Given the description of an element on the screen output the (x, y) to click on. 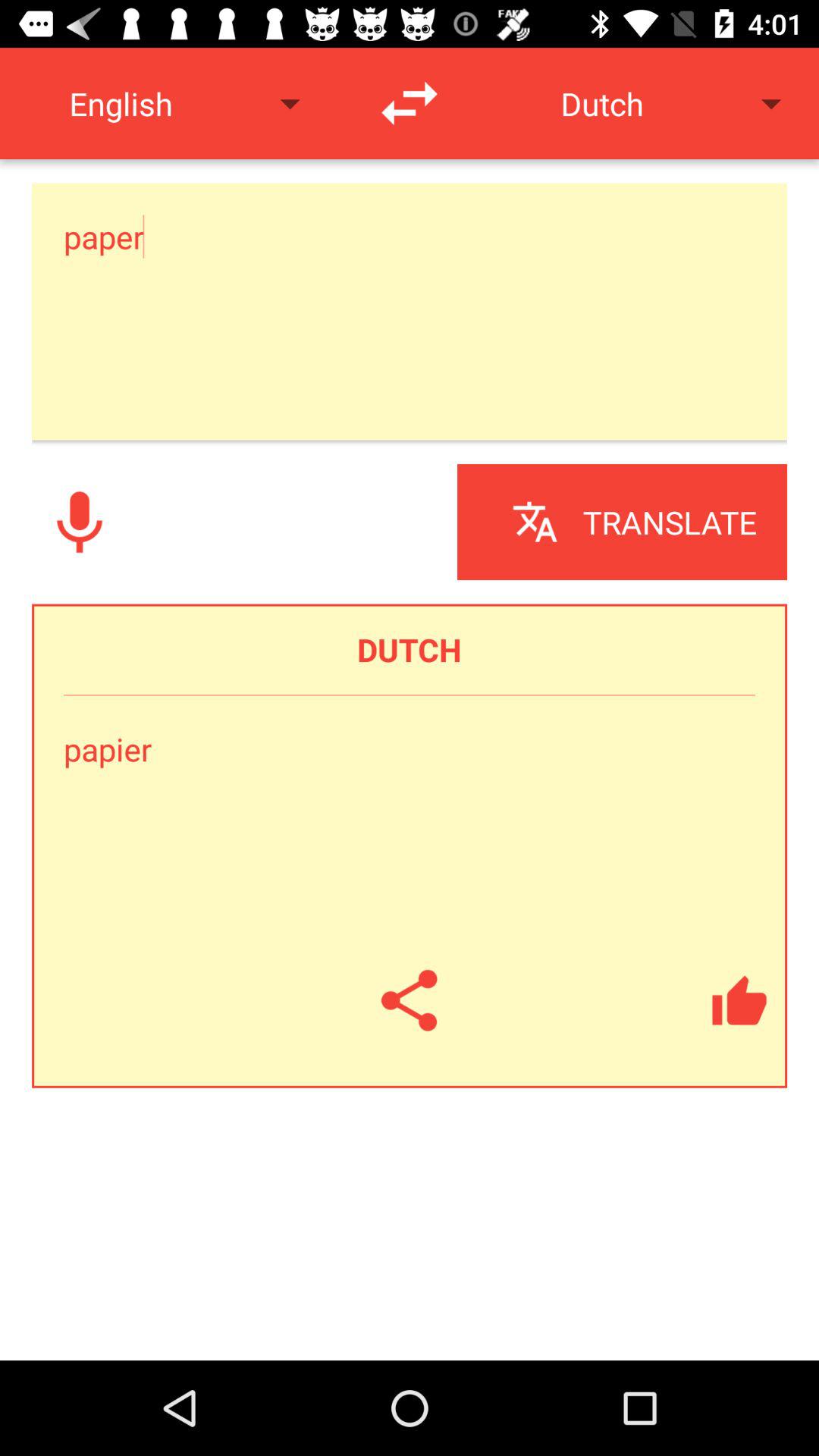
share (409, 1000)
